Given the description of an element on the screen output the (x, y) to click on. 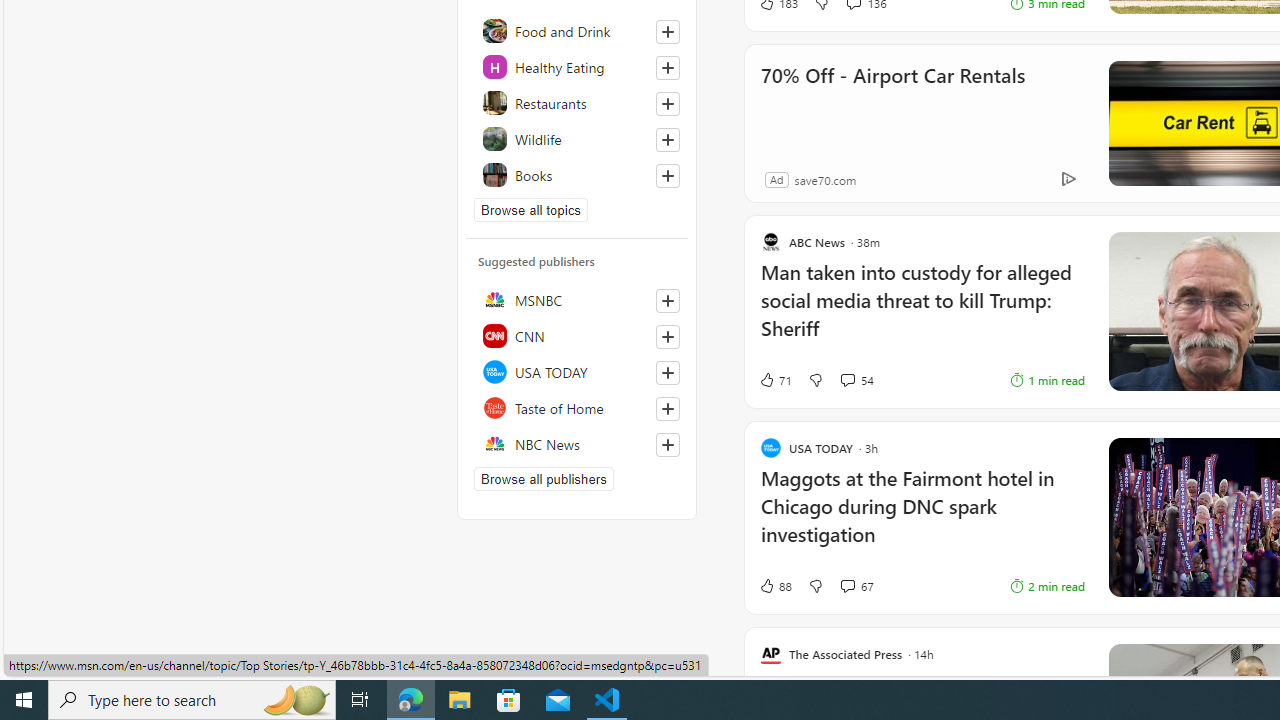
Healthy Eating (577, 66)
